Given the description of an element on the screen output the (x, y) to click on. 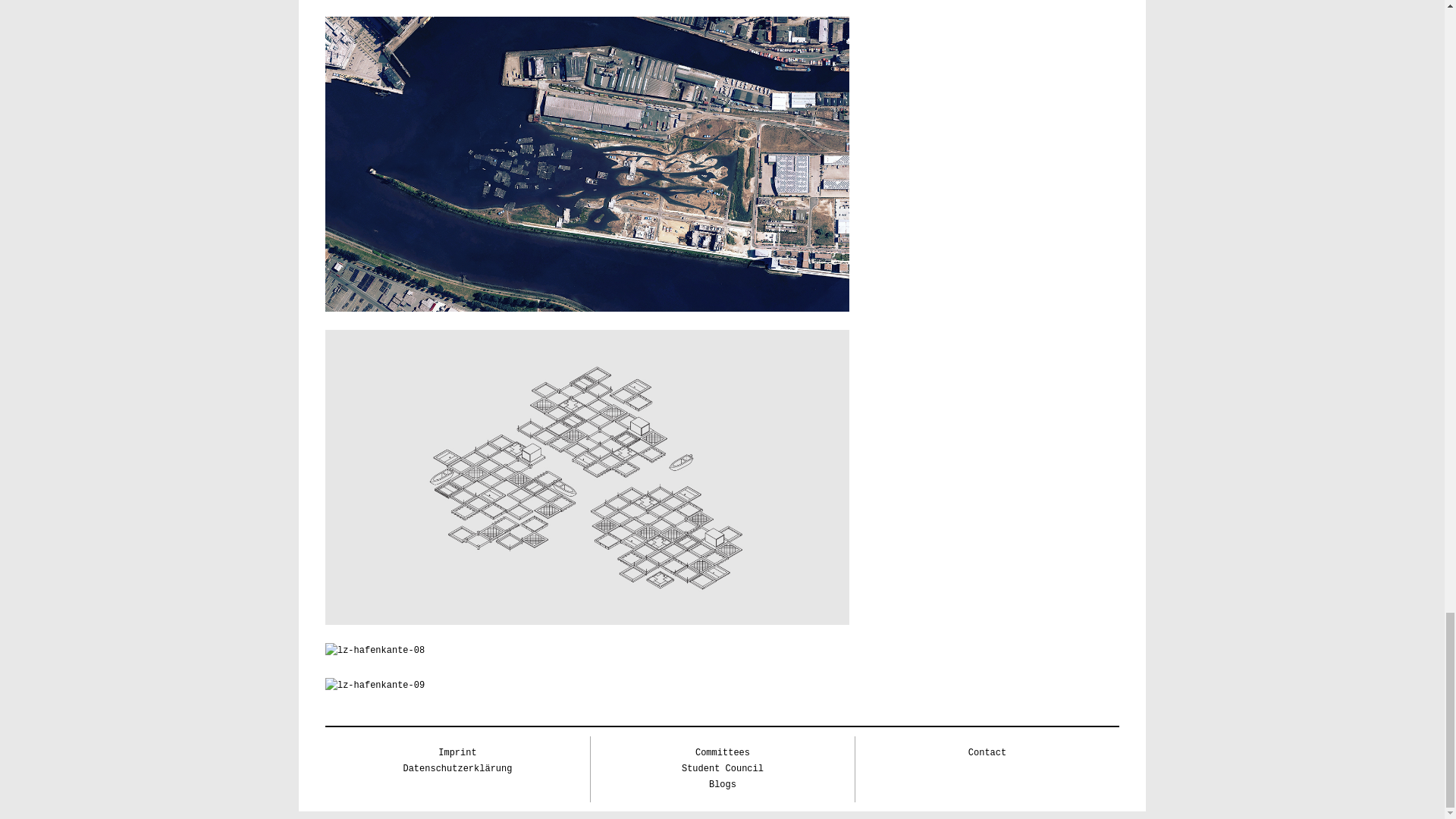
Imprint (457, 752)
Contact (987, 752)
Student Council (721, 768)
Committees (722, 752)
Blogs (722, 784)
